Given the description of an element on the screen output the (x, y) to click on. 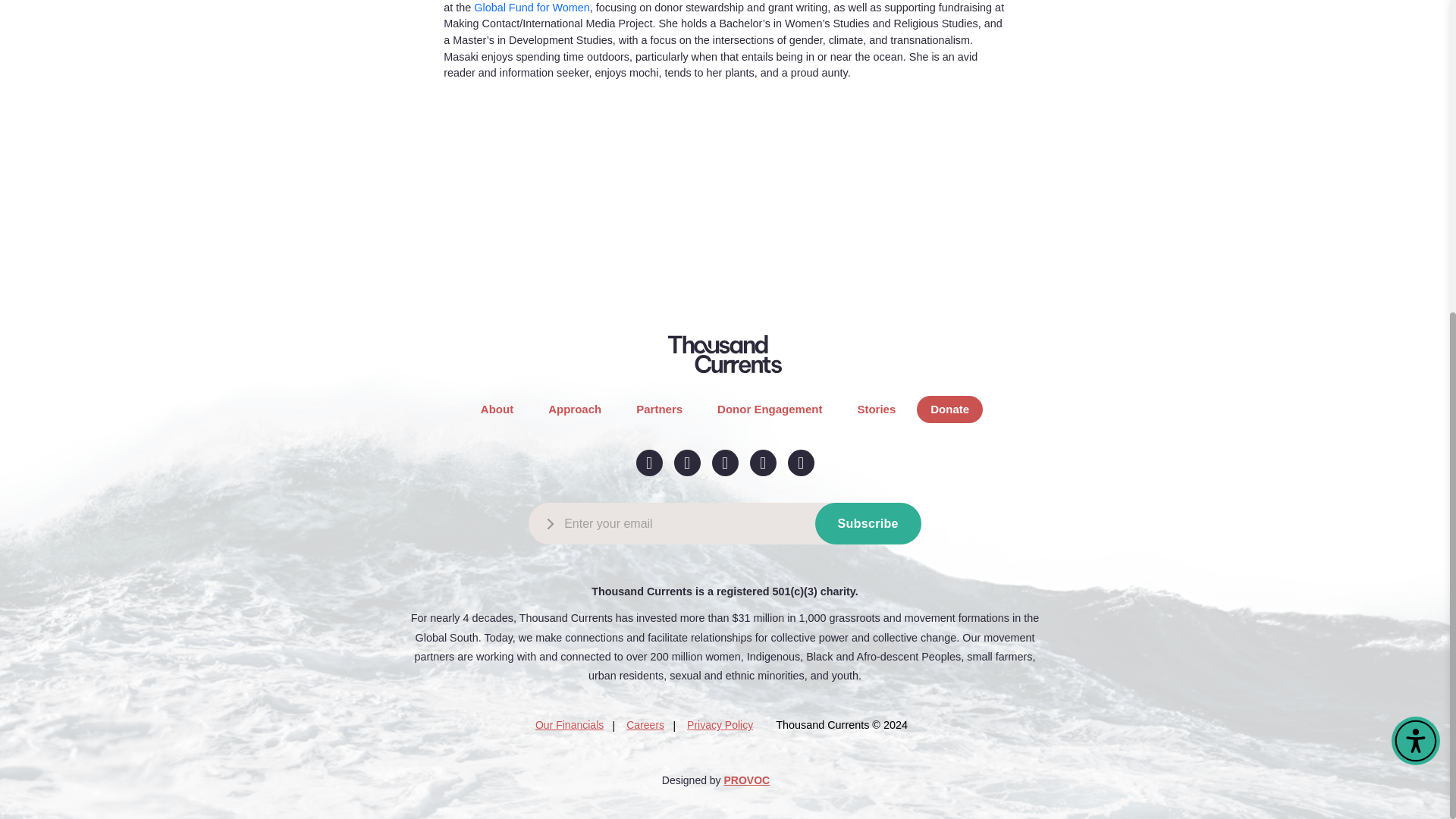
Accessibility Menu (1415, 234)
Subscribe (868, 523)
